Given the description of an element on the screen output the (x, y) to click on. 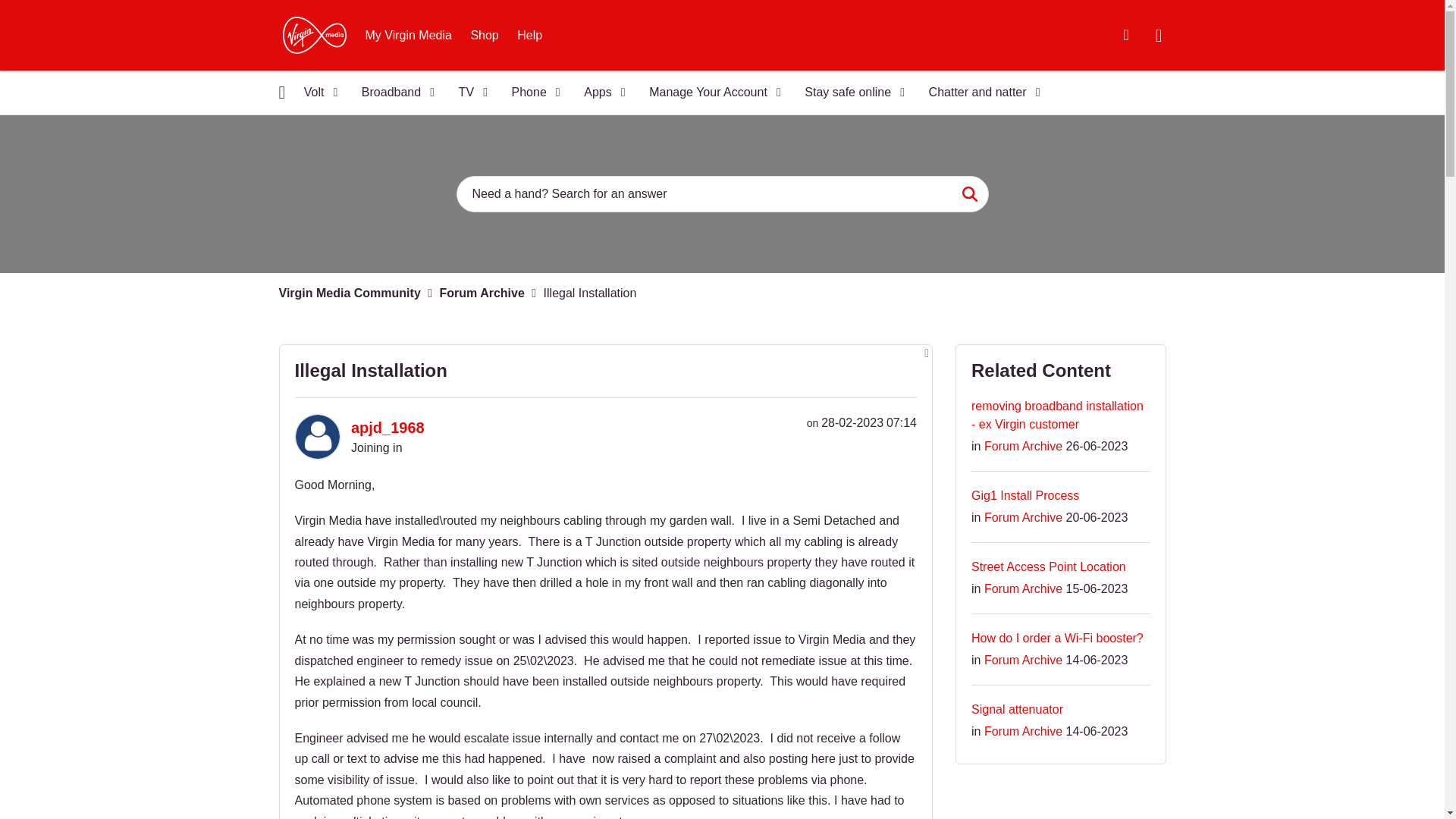
TV (468, 92)
Virgin Media (314, 35)
Volt (315, 92)
Apps (599, 92)
Community (282, 91)
My Virgin Media (409, 34)
Search (969, 193)
Broadband (392, 92)
Search (722, 194)
Help (529, 34)
Shop (484, 34)
Phone (531, 92)
Community FAQ (1126, 35)
Search (969, 193)
